Given the description of an element on the screen output the (x, y) to click on. 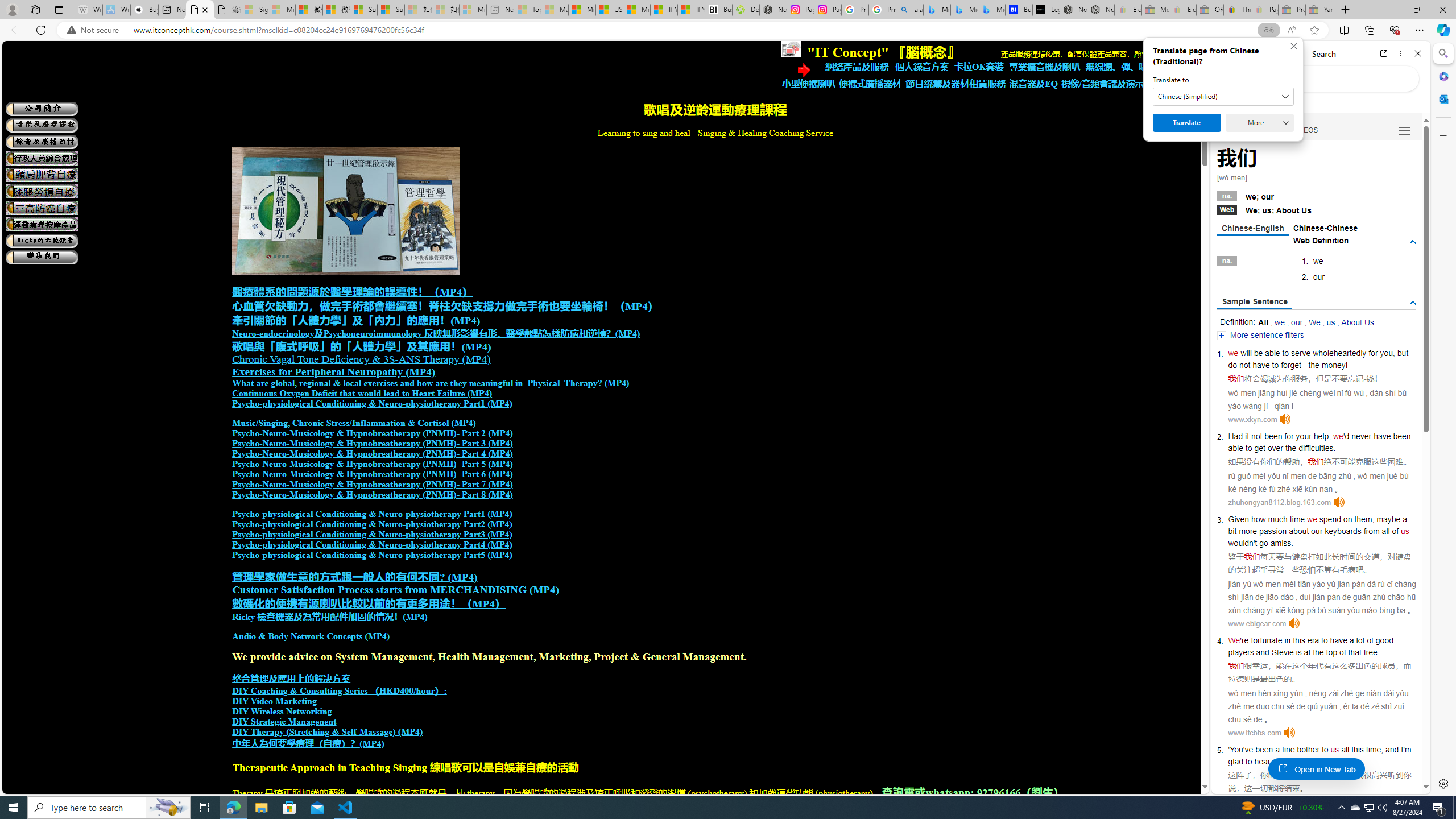
players (1240, 651)
Copilot (Ctrl+Shift+.) (1442, 29)
about (1298, 530)
Search Filter, WEB (1231, 129)
time (1297, 519)
Personal Profile (12, 9)
na.we; our (1316, 195)
Address and search bar (693, 29)
